Given the description of an element on the screen output the (x, y) to click on. 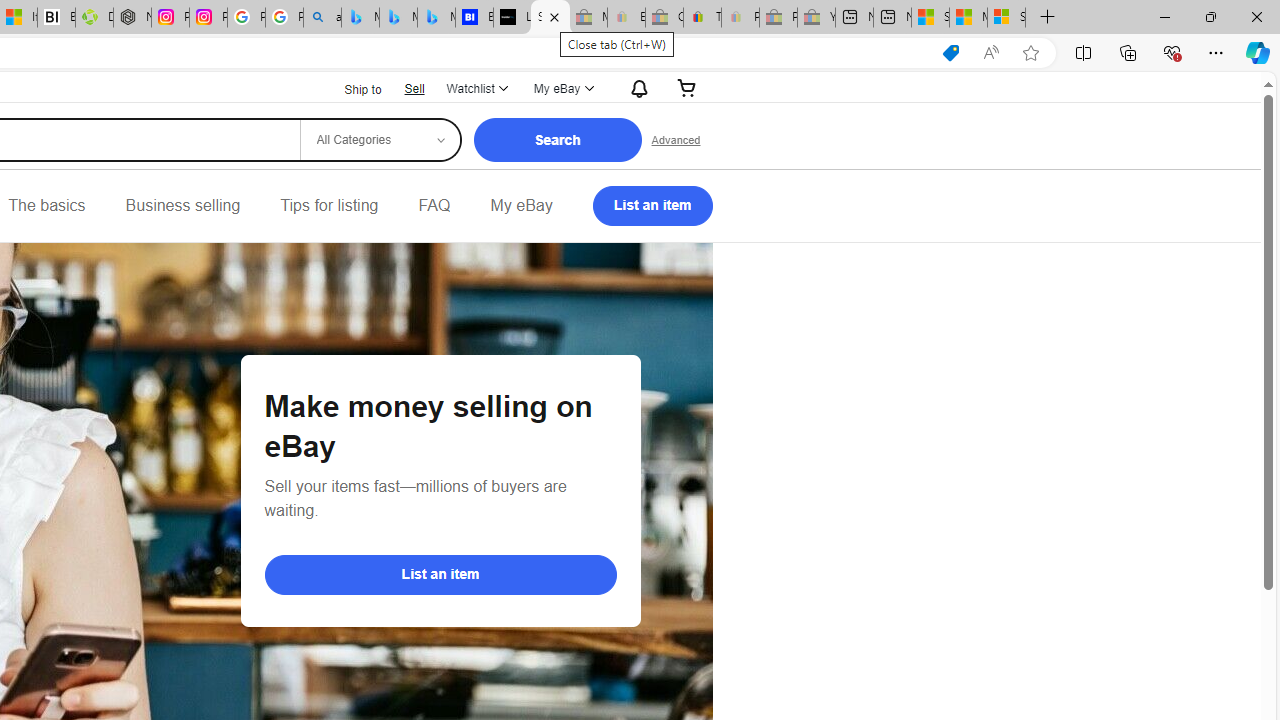
Select a category for search (379, 139)
Nordace - Nordace Edin Collection (132, 17)
Microsoft Bing Travel - Shangri-La Hotel Bangkok (436, 17)
Press Room - eBay Inc. - Sleeping (778, 17)
Shanghai, China hourly forecast | Microsoft Weather (929, 17)
The basics (46, 205)
Selling on eBay | Electronics, Fashion, Home & Garden | eBay (550, 17)
Yard, Garden & Outdoor Living - Sleeping (815, 17)
Your shopping cart (687, 88)
Expand Cart (687, 88)
My eBayExpand My eBay (562, 88)
